Given the description of an element on the screen output the (x, y) to click on. 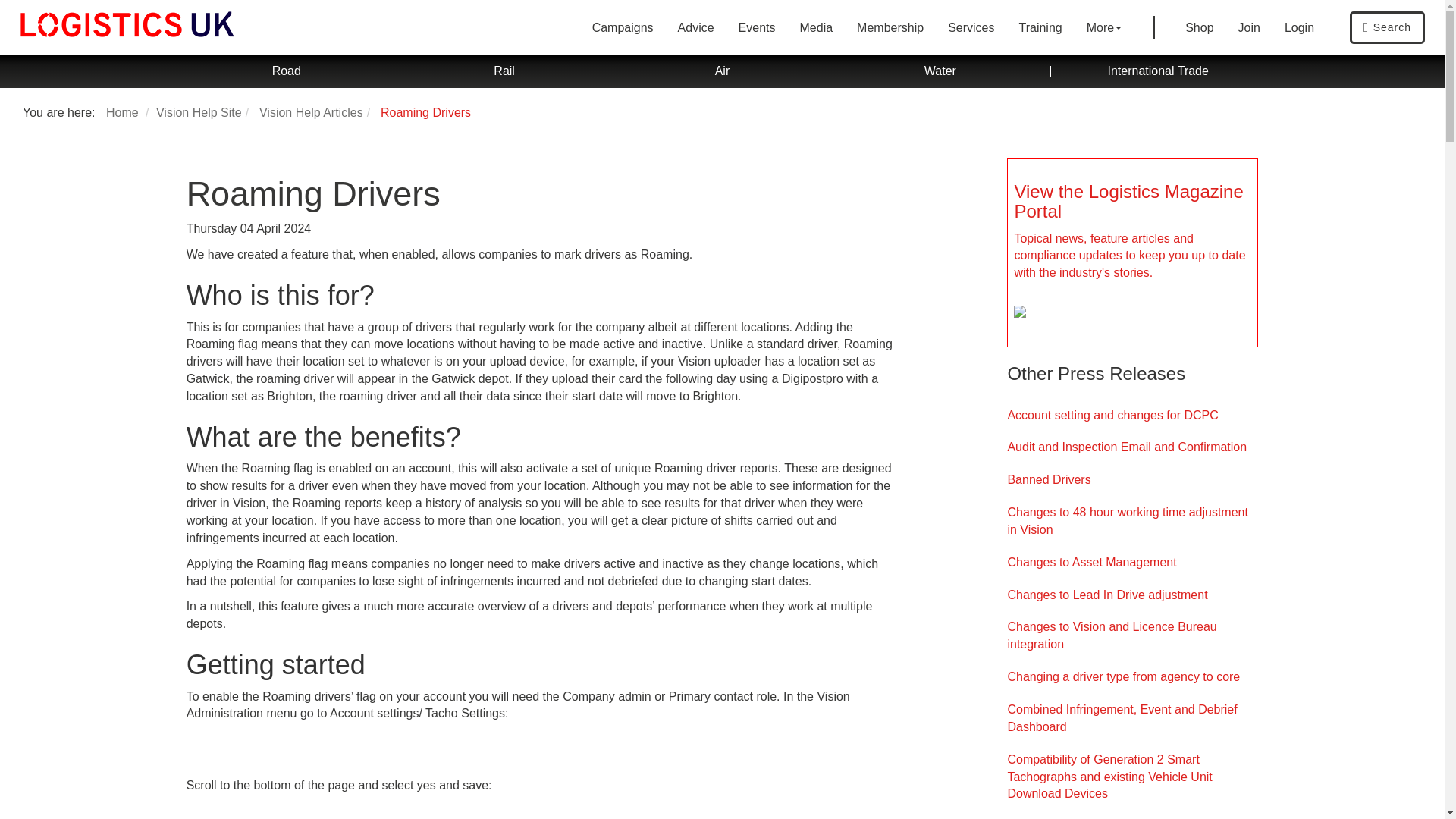
Campaigns (622, 26)
Water (939, 71)
Audit and Inspection Email and Confirmation (1132, 447)
Login (1299, 26)
Vision Help Site (198, 112)
Membership (890, 26)
More (1104, 26)
International Trade (1157, 71)
Membership (890, 26)
